Given the description of an element on the screen output the (x, y) to click on. 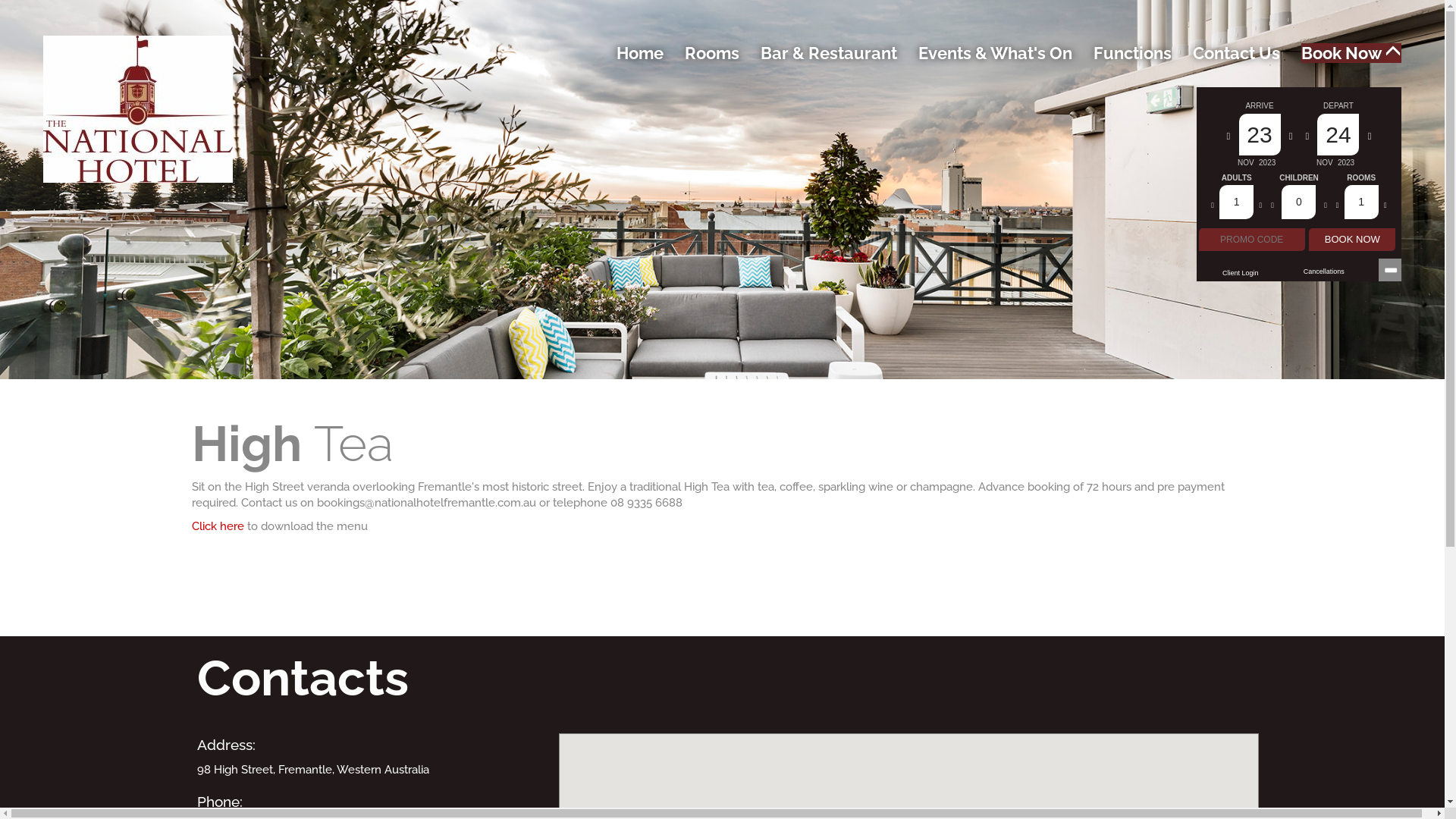
Book Now Element type: text (1351, 52)
Bar & Restaurant Element type: text (828, 52)
Click here Element type: text (217, 526)
Client Login Element type: text (1240, 272)
Contact Us Element type: text (1236, 52)
Cancellations Element type: text (1323, 271)
Home Element type: text (639, 52)
BOOK NOW Element type: text (1351, 239)
Rooms Element type: text (711, 52)
Events & What'S On Element type: text (995, 52)
Functions Element type: text (1132, 52)
